Given the description of an element on the screen output the (x, y) to click on. 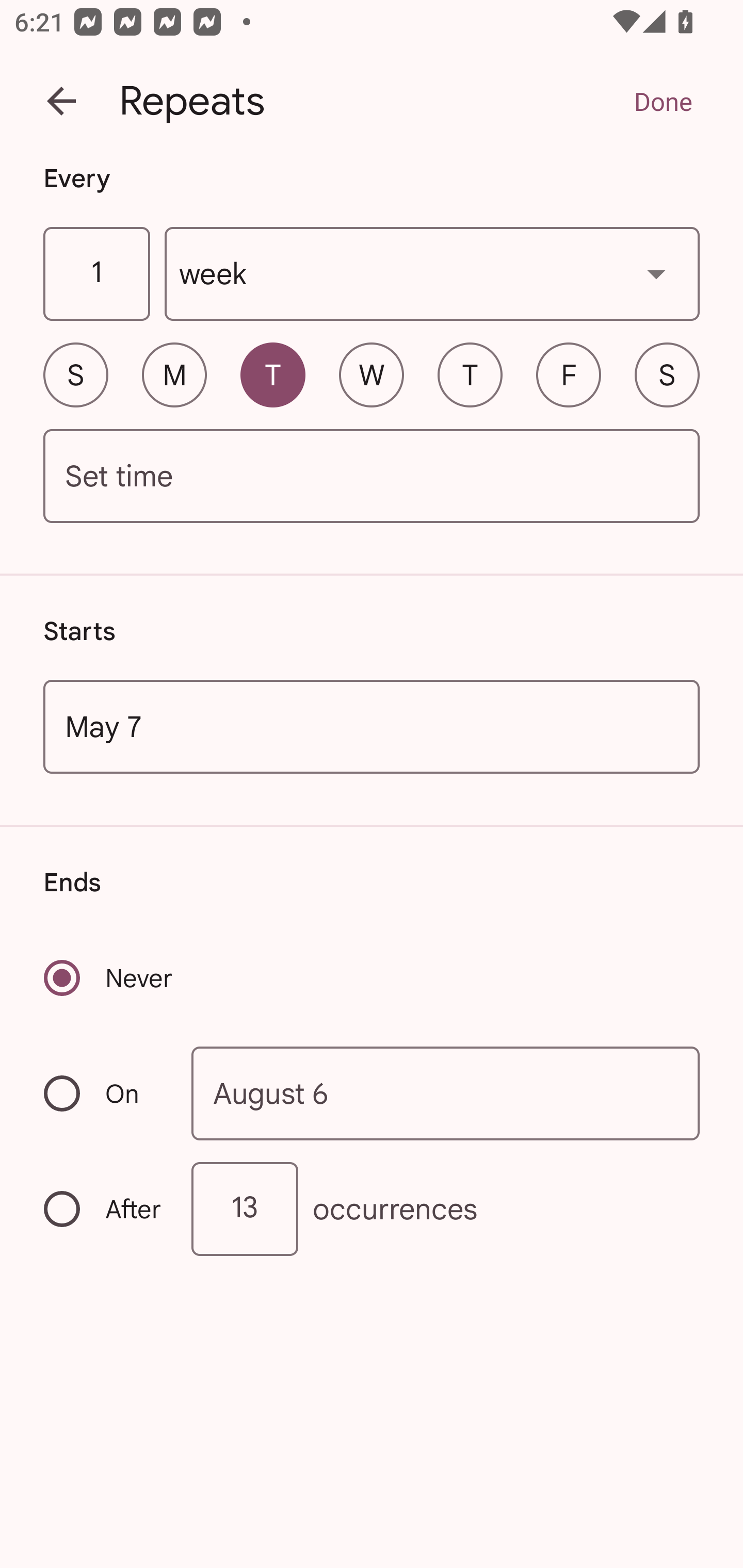
Back (61, 101)
Done (663, 101)
1 (96, 274)
week (431, 274)
Show dropdown menu (655, 273)
S Sunday (75, 374)
M Monday (173, 374)
T Tuesday, selected (272, 374)
W Wednesday (371, 374)
T Thursday (469, 374)
F Friday (568, 374)
S Saturday (666, 374)
Set time (371, 476)
May 7 (371, 726)
Never Recurrence never ends (109, 978)
August 6 (445, 1092)
On Recurrence ends on a specific date (104, 1093)
13 (244, 1208)
